Given the description of an element on the screen output the (x, y) to click on. 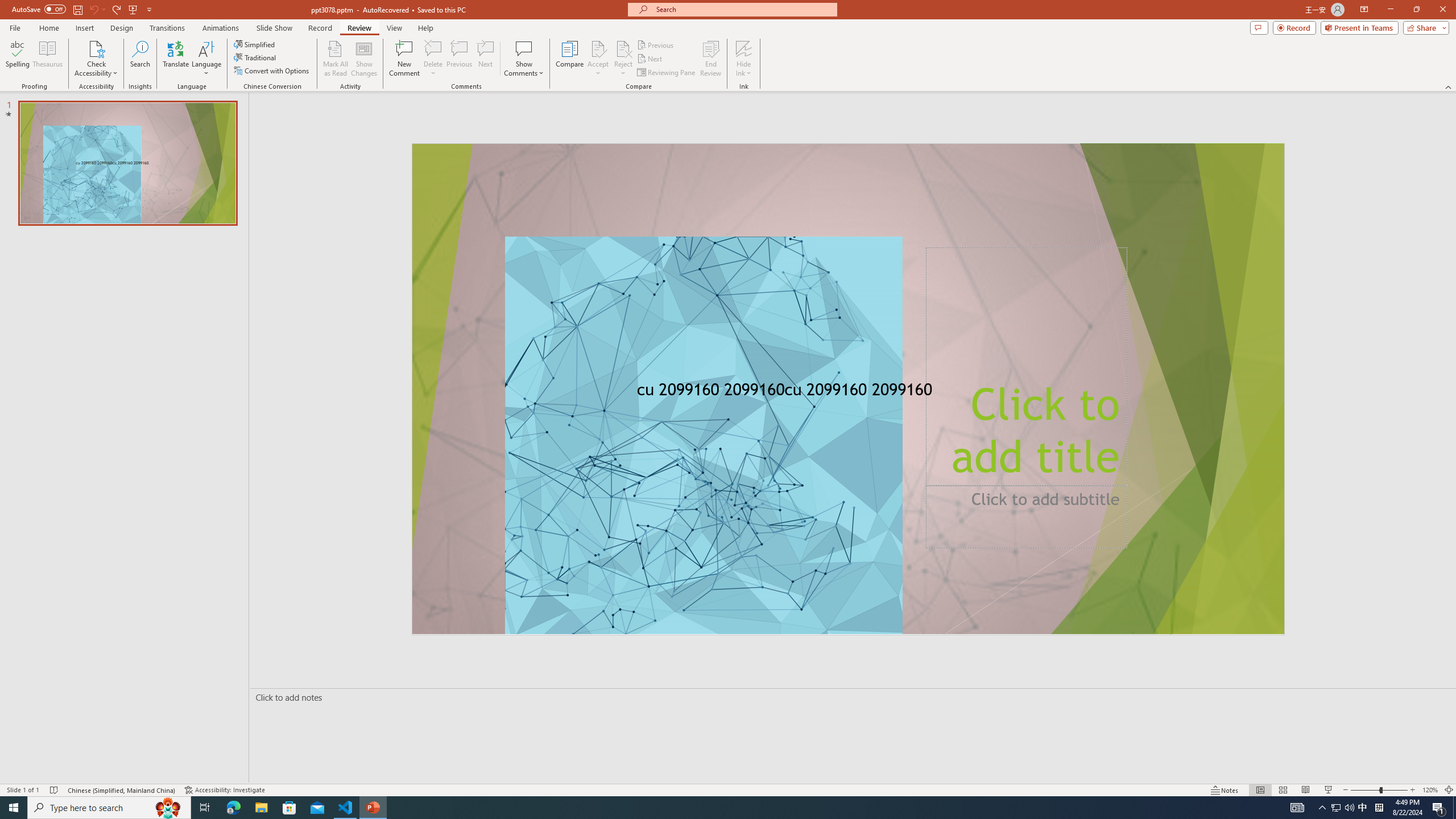
Reject (622, 58)
Accept Change (598, 48)
